Given the description of an element on the screen output the (x, y) to click on. 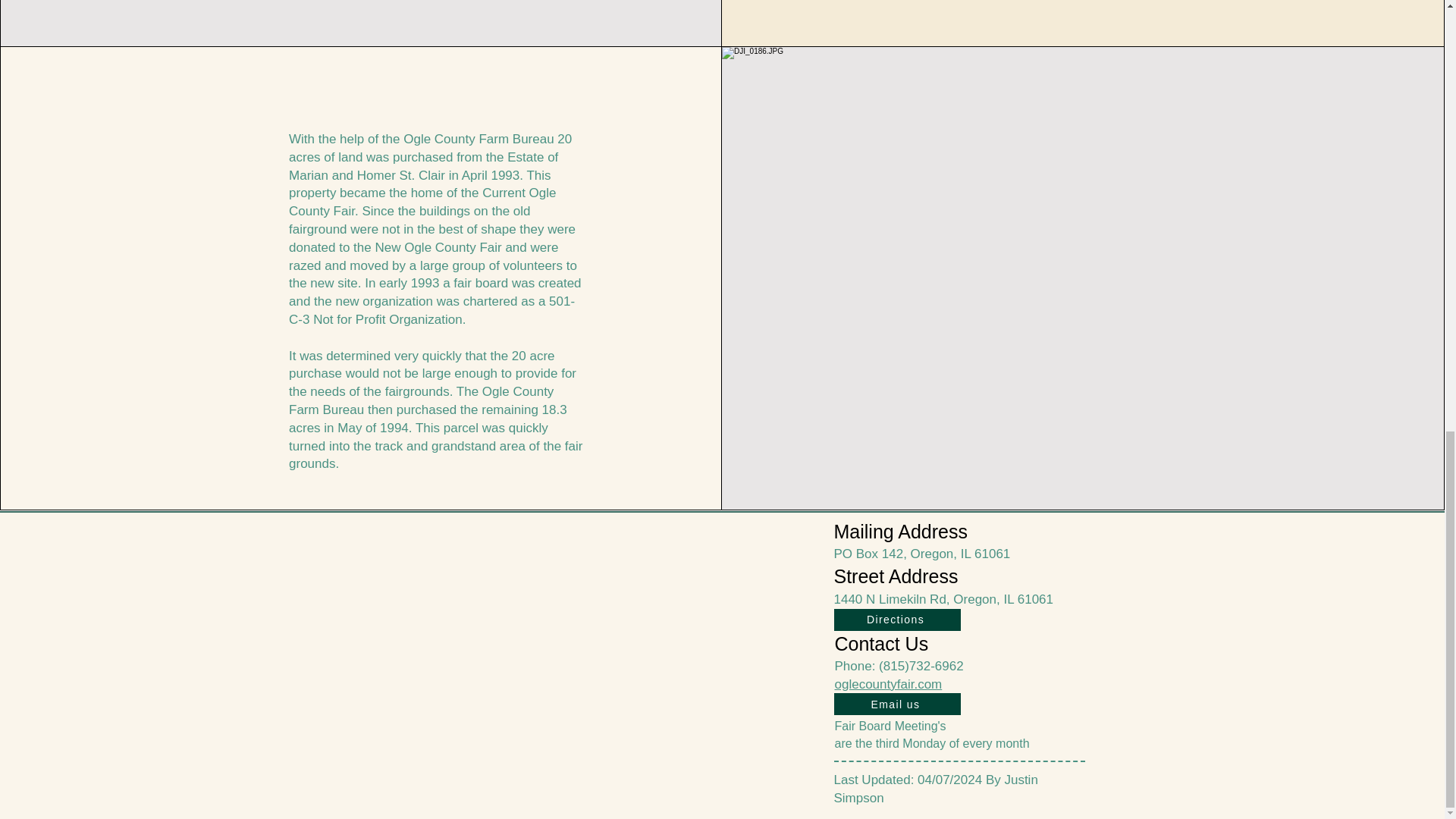
oglecountyfair.com (888, 684)
Directions (897, 619)
Email us (897, 703)
